Given the description of an element on the screen output the (x, y) to click on. 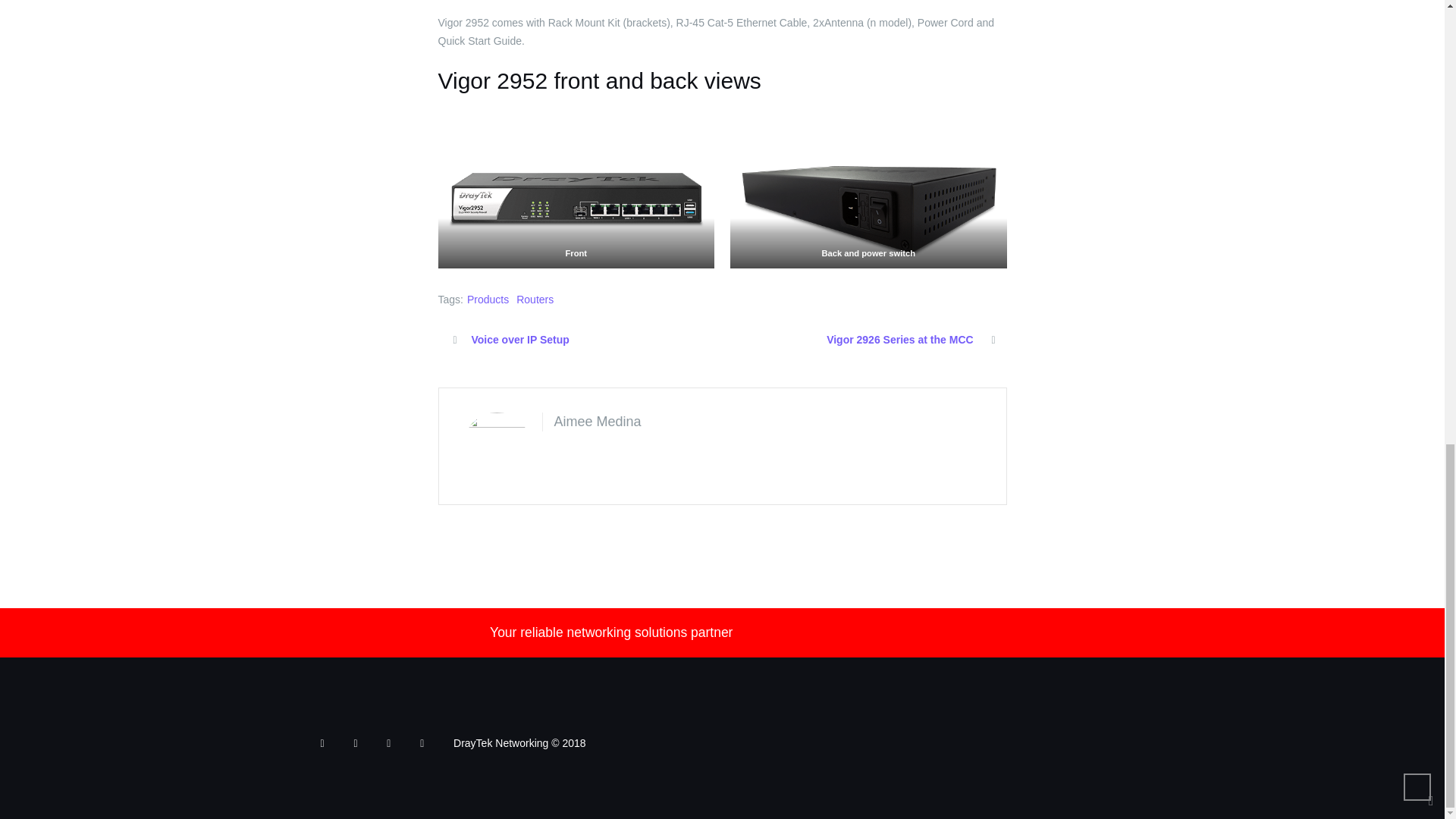
Voice over IP Setup (519, 339)
Vigor 2926 Series at the MCC (899, 339)
Routers (534, 299)
Products (487, 299)
